Given the description of an element on the screen output the (x, y) to click on. 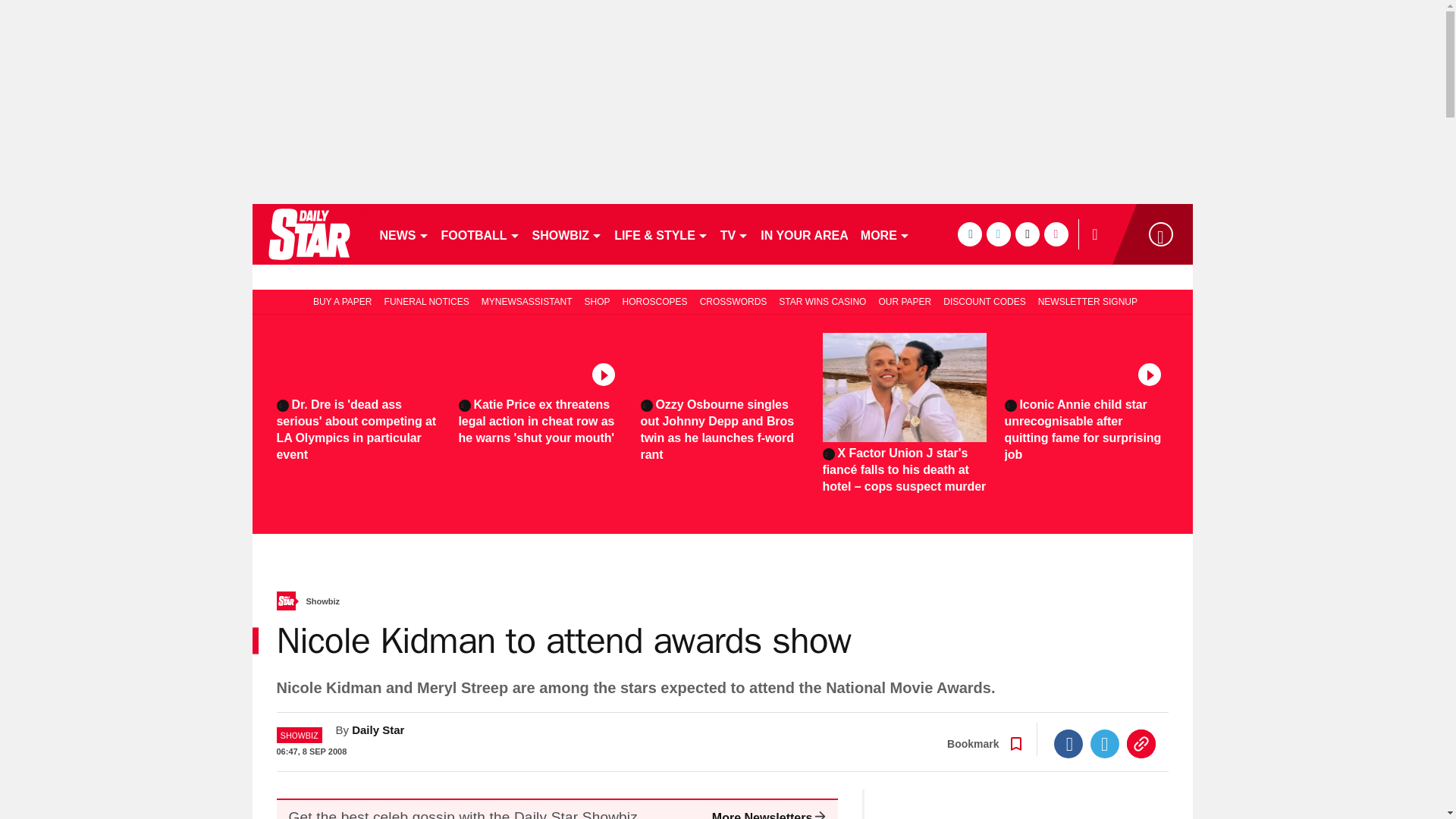
twitter (997, 233)
SHOWBIZ (566, 233)
tiktok (1026, 233)
facebook (968, 233)
dailystar (308, 233)
Twitter (1104, 743)
Facebook (1068, 743)
FOOTBALL (480, 233)
NEWS (402, 233)
instagram (1055, 233)
